Given the description of an element on the screen output the (x, y) to click on. 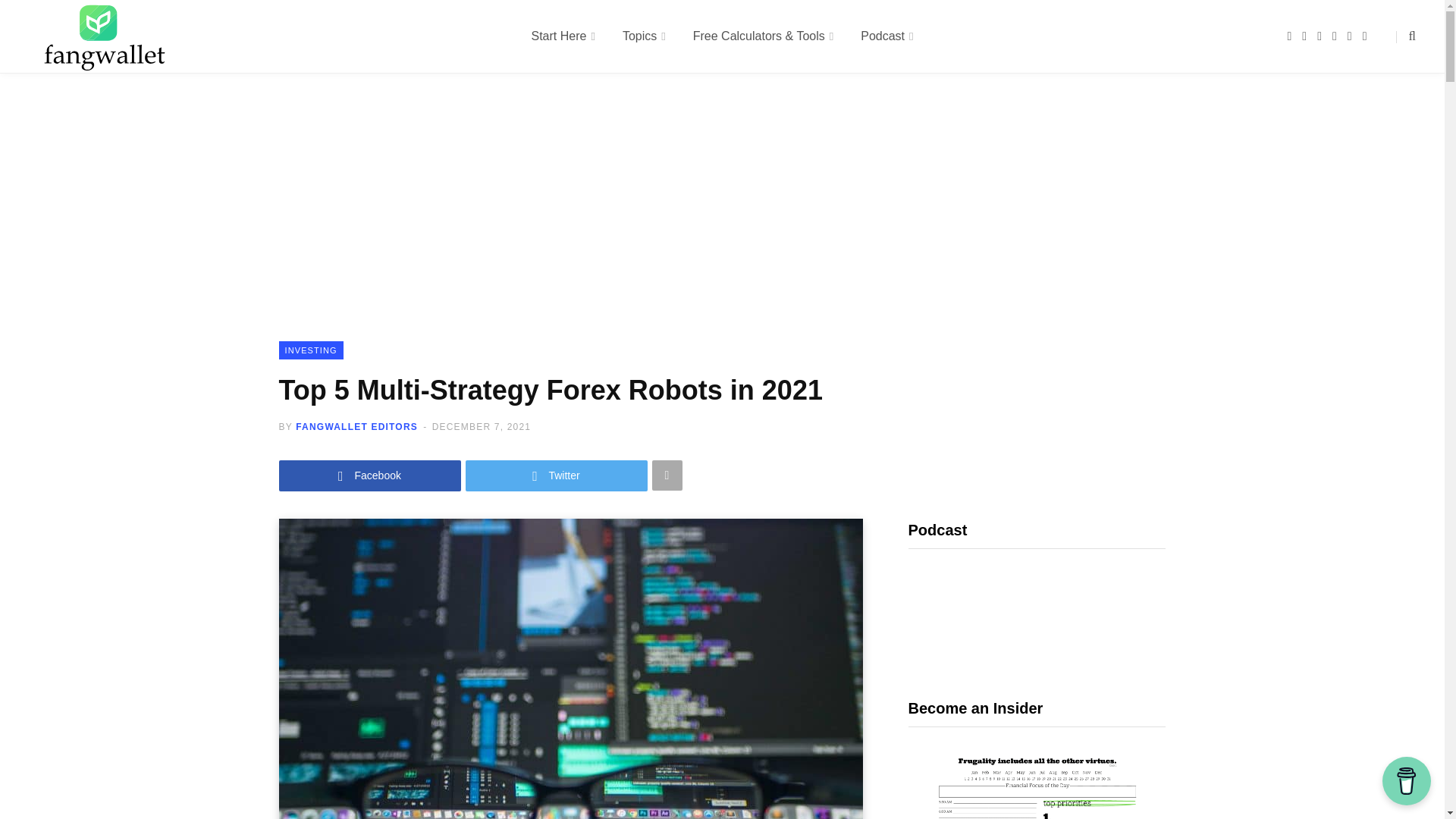
FangWallet (104, 36)
Start Here (562, 36)
